Given the description of an element on the screen output the (x, y) to click on. 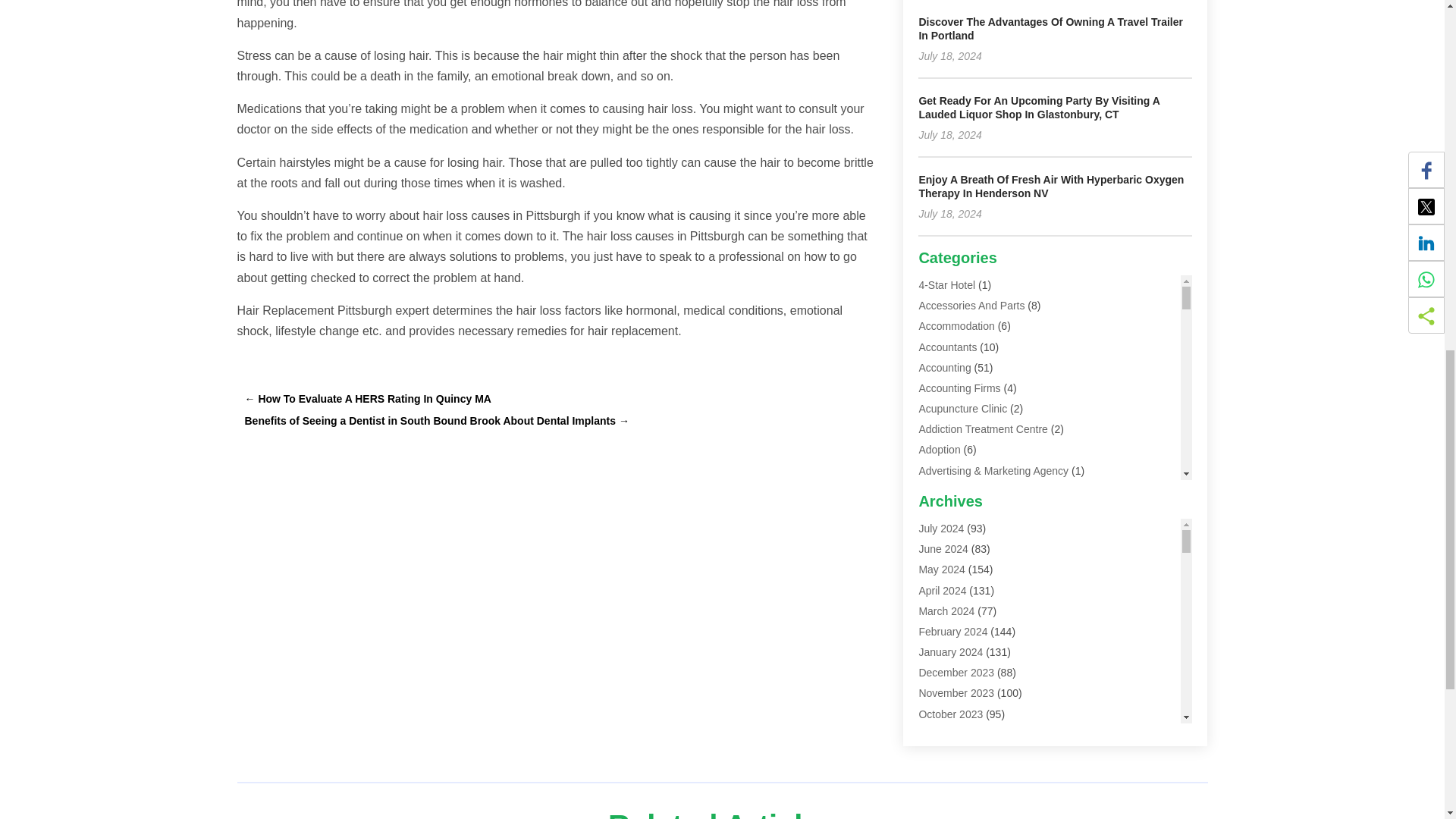
Adoption (938, 449)
4-Star Hotel (946, 285)
Addiction Treatment Centre (982, 428)
Acupuncture Clinic (962, 408)
Accounting Firms (959, 387)
Advertising Agency (963, 491)
Accountants (947, 346)
Agriculture (943, 532)
Accounting (944, 367)
Agronomy (942, 552)
Accessories And Parts (971, 305)
Air Compressors (957, 573)
